Given the description of an element on the screen output the (x, y) to click on. 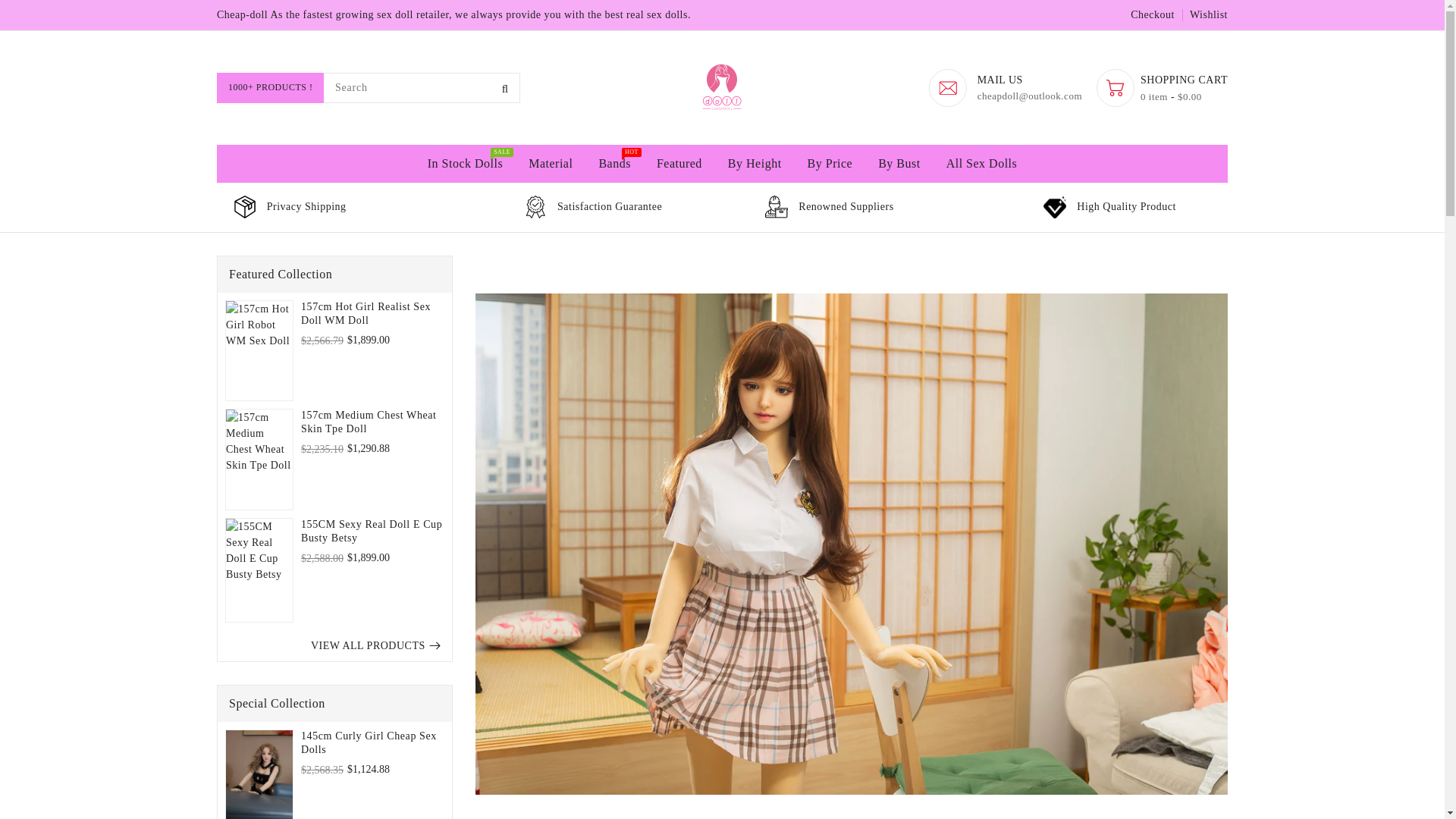
Wishlist (1208, 14)
Material (549, 163)
Checkout (1152, 14)
Featured (679, 163)
SKIP TO CONTENT (14, 7)
